Given the description of an element on the screen output the (x, y) to click on. 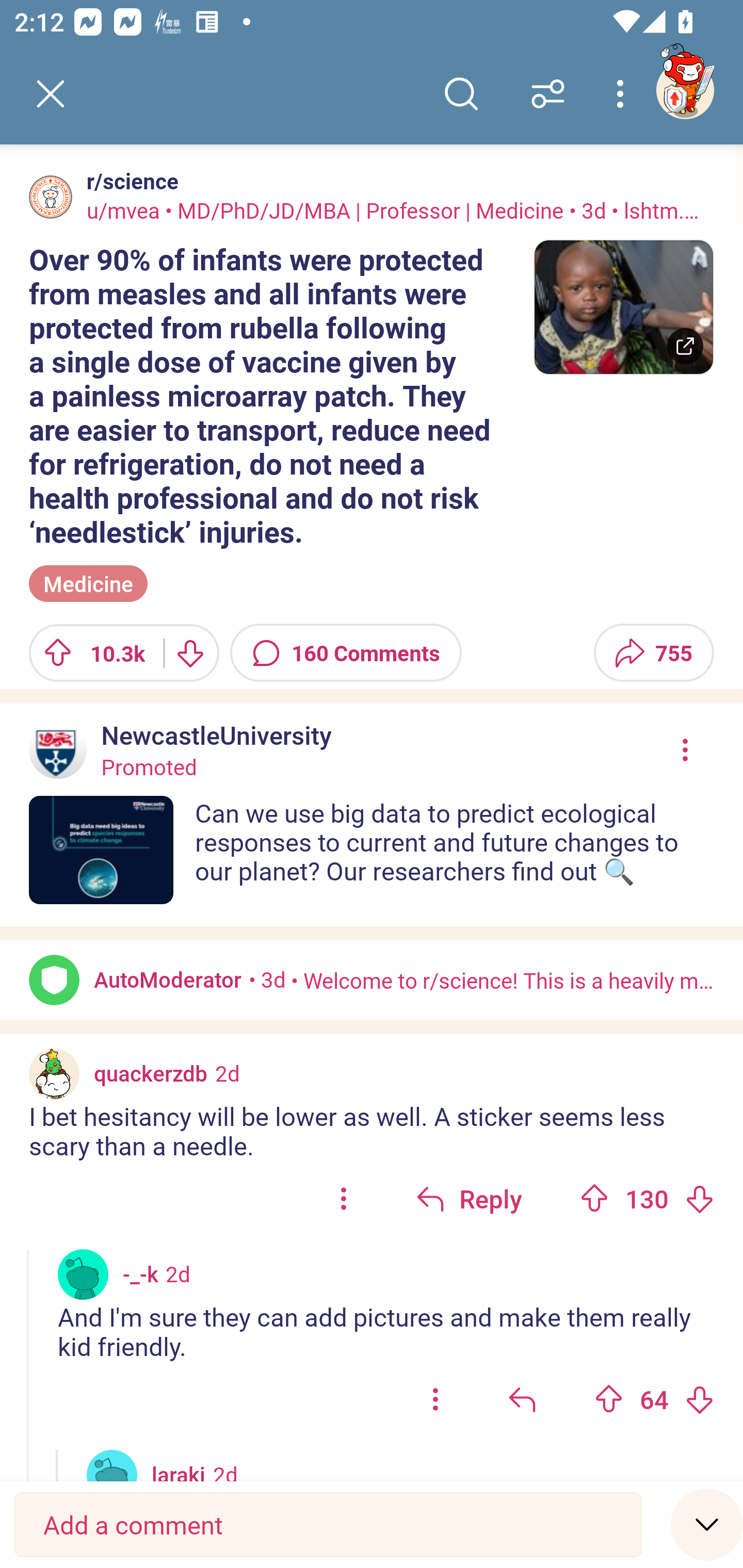
Back (50, 93)
TestAppium002 account (685, 90)
Search comments (460, 93)
Sort comments (547, 93)
More options (623, 93)
r/science (128, 181)
Avatar (50, 196)
u/mvea (122, 210)
 • lshtm.ac.uk (656, 210)
Thumbnail image (623, 306)
Medicine (87, 584)
Upvote 10.3k (88, 652)
Downvote (189, 652)
160 Comments (346, 652)
Share 755 (653, 652)
Avatar (53, 979)
• 3d (267, 979)
Custom avatar (53, 1073)
2d (227, 1073)
options (343, 1198)
Reply (469, 1198)
Upvote 130 130 votes Downvote (647, 1198)
Upvote (594, 1198)
Downvote (699, 1198)
Avatar (82, 1274)
2d (177, 1273)
options (435, 1398)
Upvote 64 64 votes Downvote (654, 1398)
Upvote (608, 1399)
Downvote (699, 1399)
Avatar (111, 1465)
2d (225, 1470)
Speed read (706, 1524)
Add a comment (327, 1524)
